Given the description of an element on the screen output the (x, y) to click on. 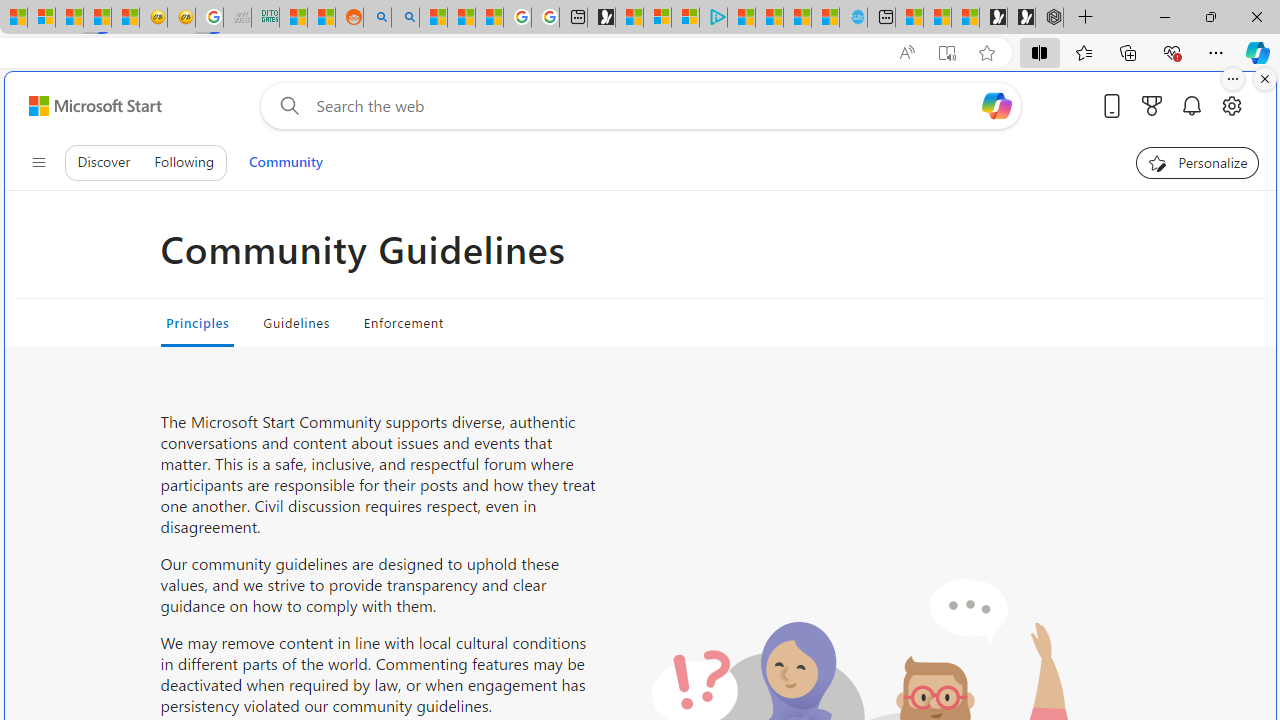
Community (285, 161)
MSN (97, 17)
Open settings (1231, 105)
Home | Sky Blue Bikes - Sky Blue Bikes (852, 17)
Community (285, 162)
